Given the description of an element on the screen output the (x, y) to click on. 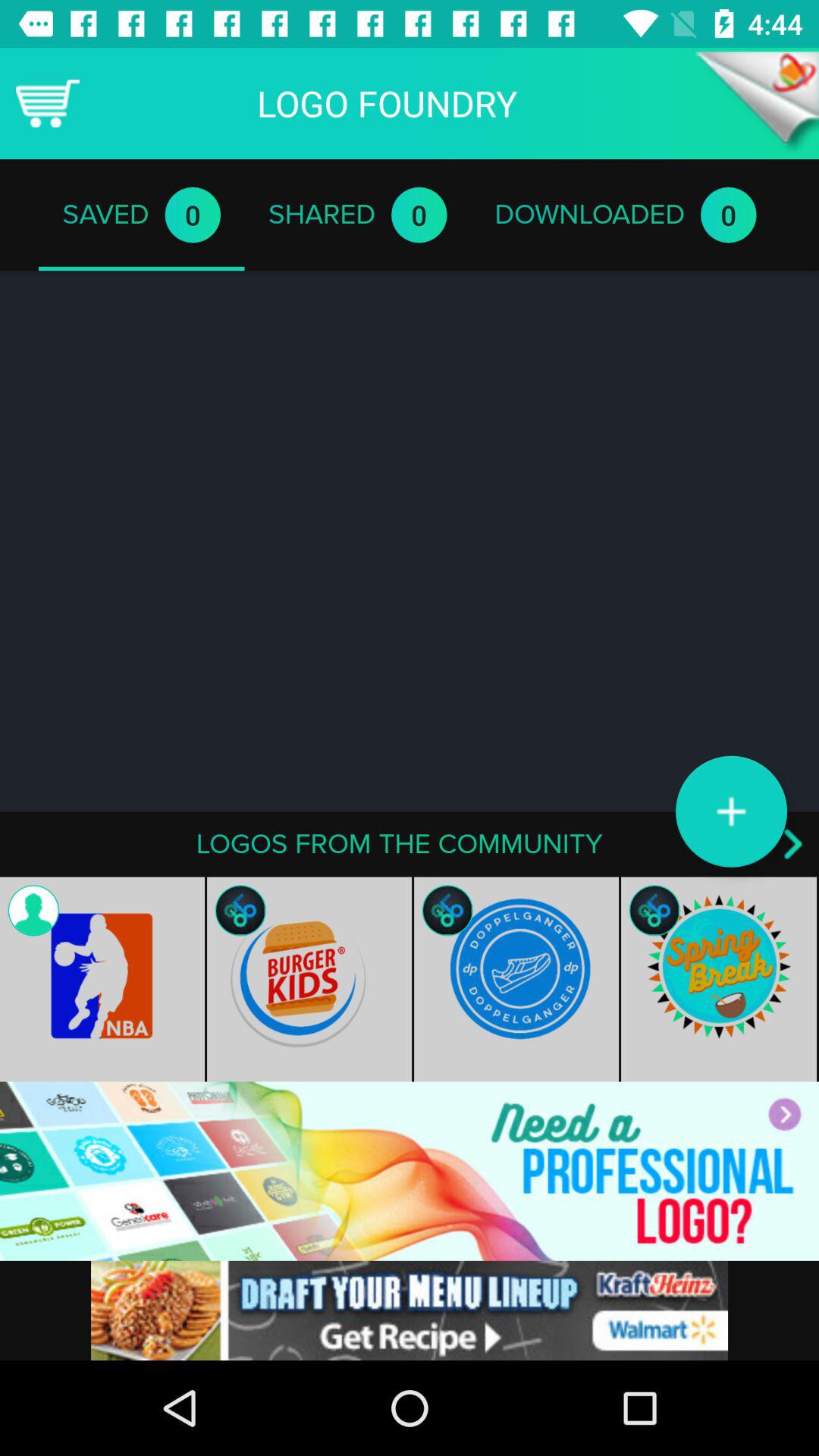
view cart (47, 103)
